Given the description of an element on the screen output the (x, y) to click on. 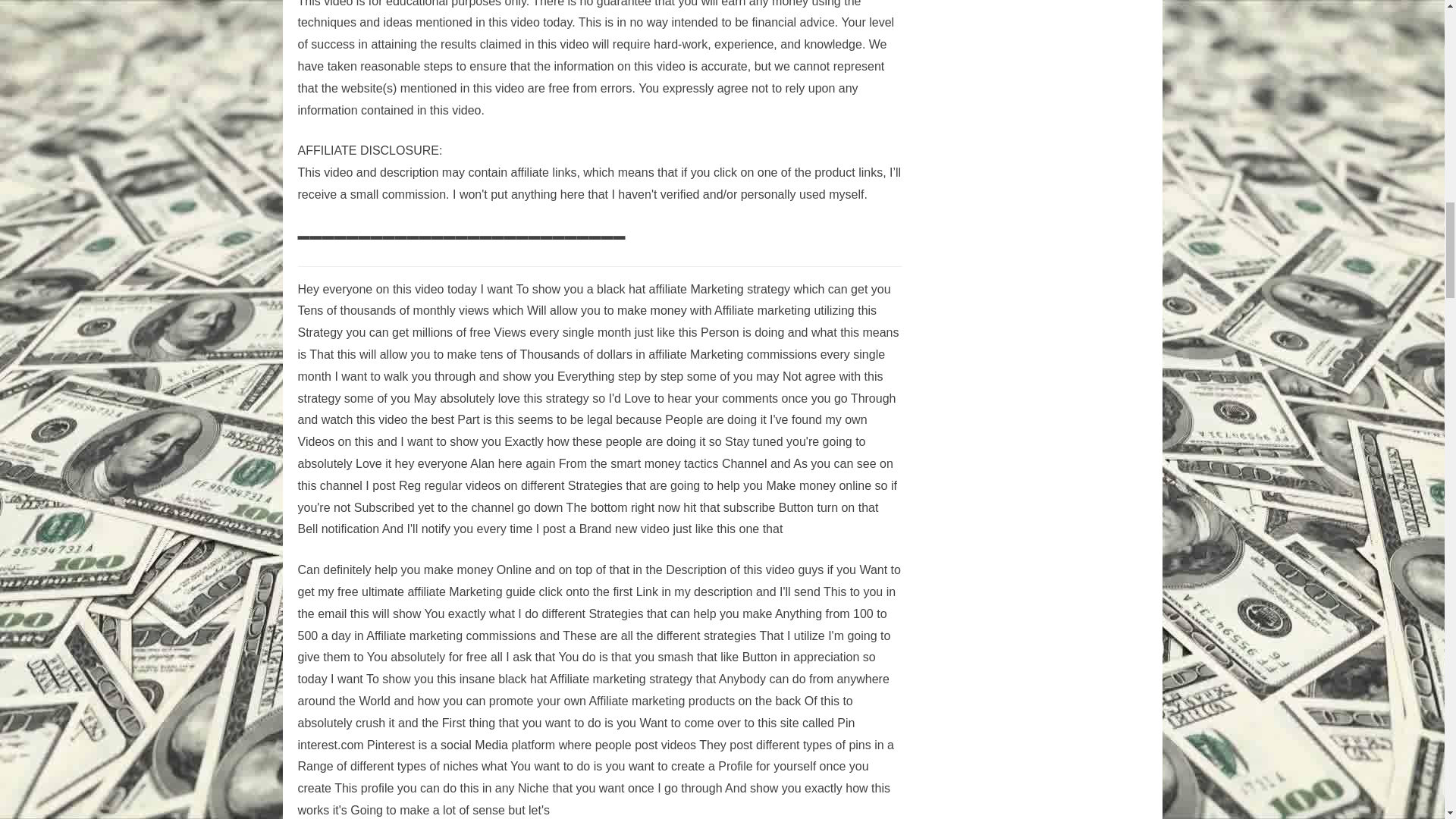
make money (652, 309)
social Media (474, 744)
make money (652, 309)
social Media (474, 744)
